Given the description of an element on the screen output the (x, y) to click on. 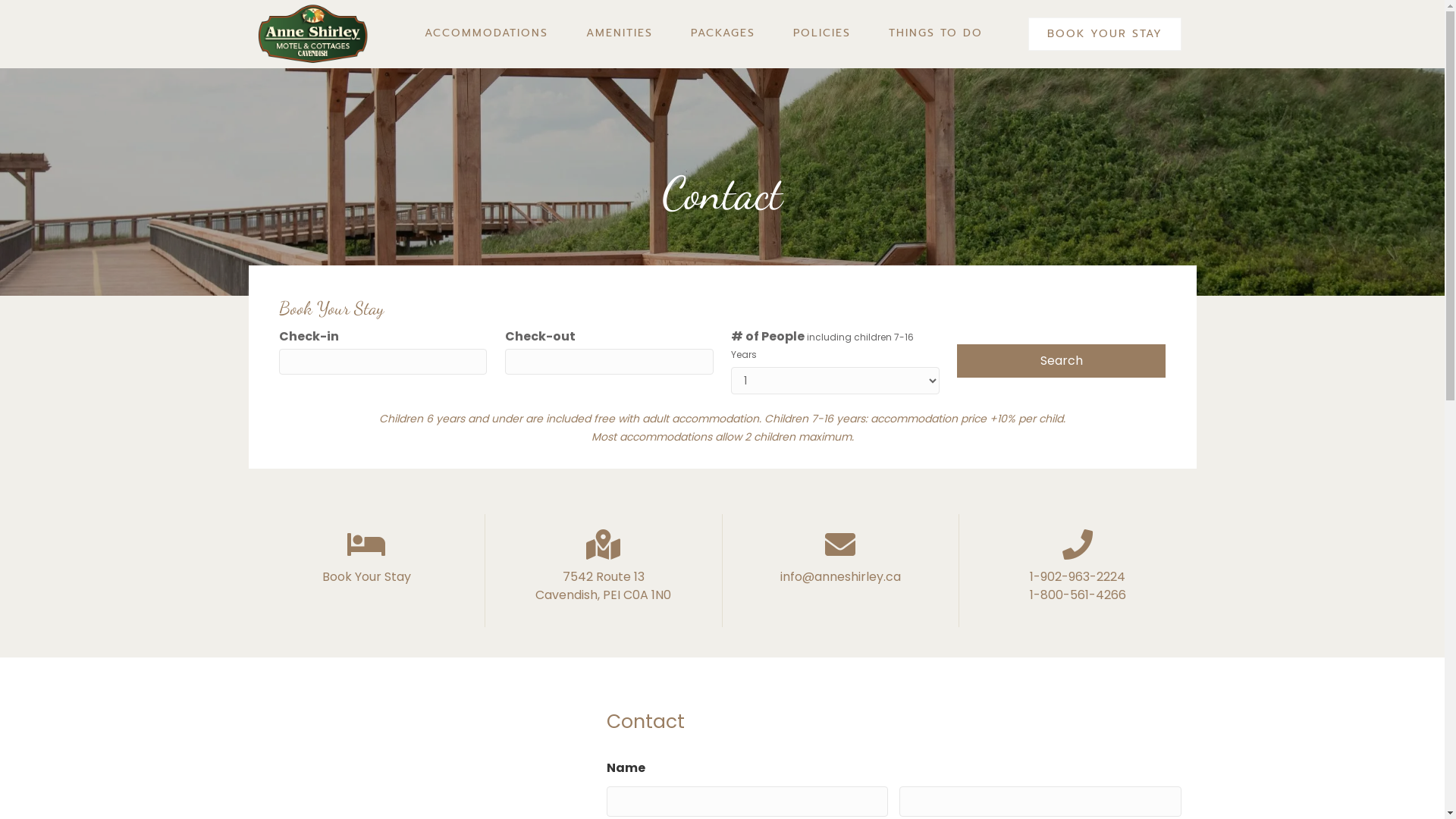
AMENITIES Element type: text (618, 33)
7542 Route 13
Cavendish, PEI C0A 1N0 Element type: text (603, 585)
ACCOMMODATIONS Element type: text (486, 33)
1-800-561-4266 Element type: text (1077, 594)
BOOK YOUR STAY Element type: text (1104, 33)
Search Element type: text (1061, 360)
logoas Element type: hover (312, 34)
info@anneshirley.ca Element type: text (840, 576)
POLICIES Element type: text (821, 33)
1-902-963-2224 Element type: text (1077, 576)
PACKAGES Element type: text (722, 33)
THINGS TO DO Element type: text (935, 33)
